Given the description of an element on the screen output the (x, y) to click on. 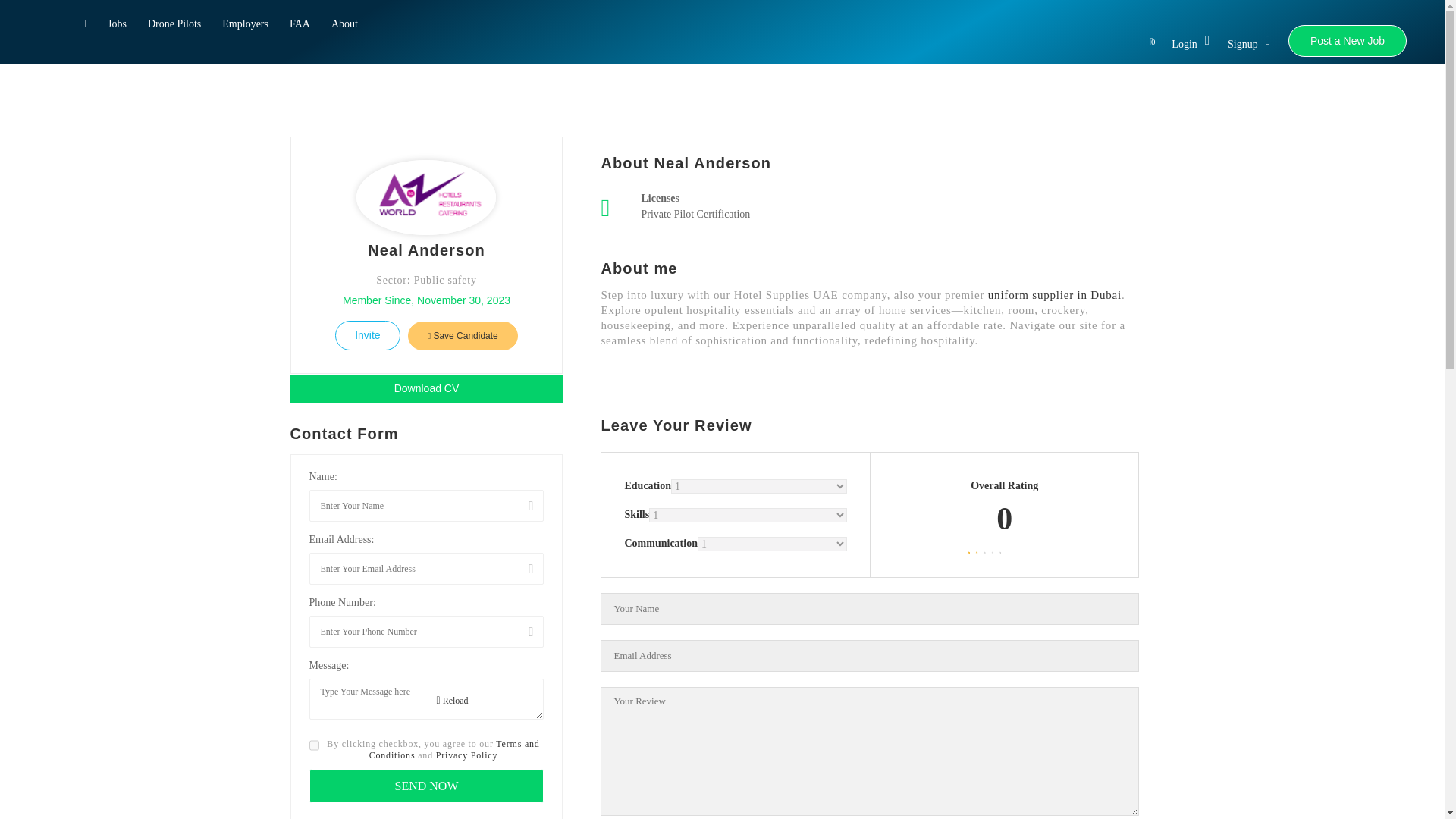
Invite (366, 335)
About (344, 26)
uniform supplier in Dubai (1052, 295)
Terms and Conditions (454, 749)
Reload (452, 700)
Login (1190, 44)
Drone Pilots (174, 26)
Employers (244, 26)
FAA (299, 26)
Jobs (116, 26)
